Given the description of an element on the screen output the (x, y) to click on. 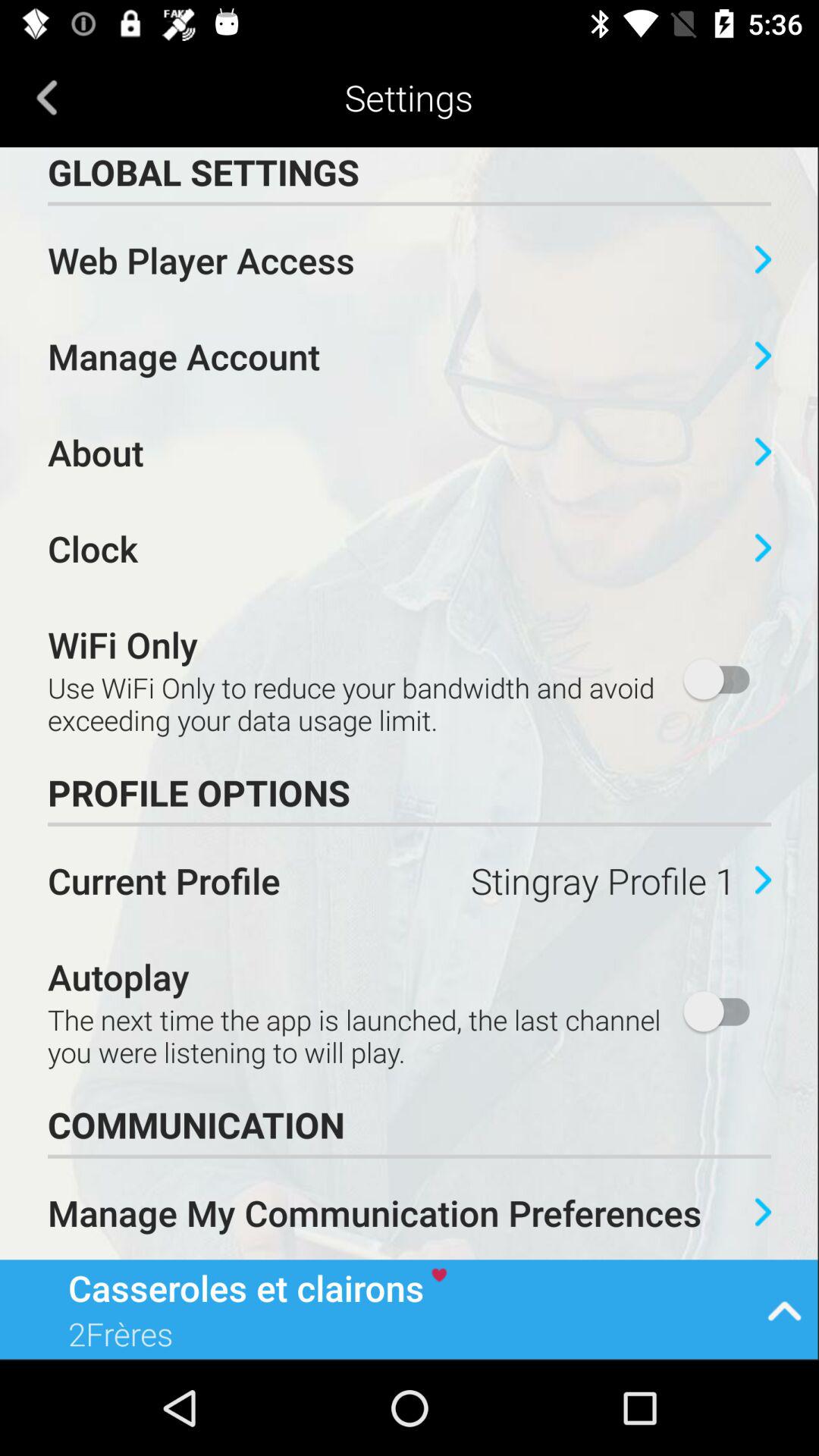
turn on the item next to settings icon (47, 97)
